Given the description of an element on the screen output the (x, y) to click on. 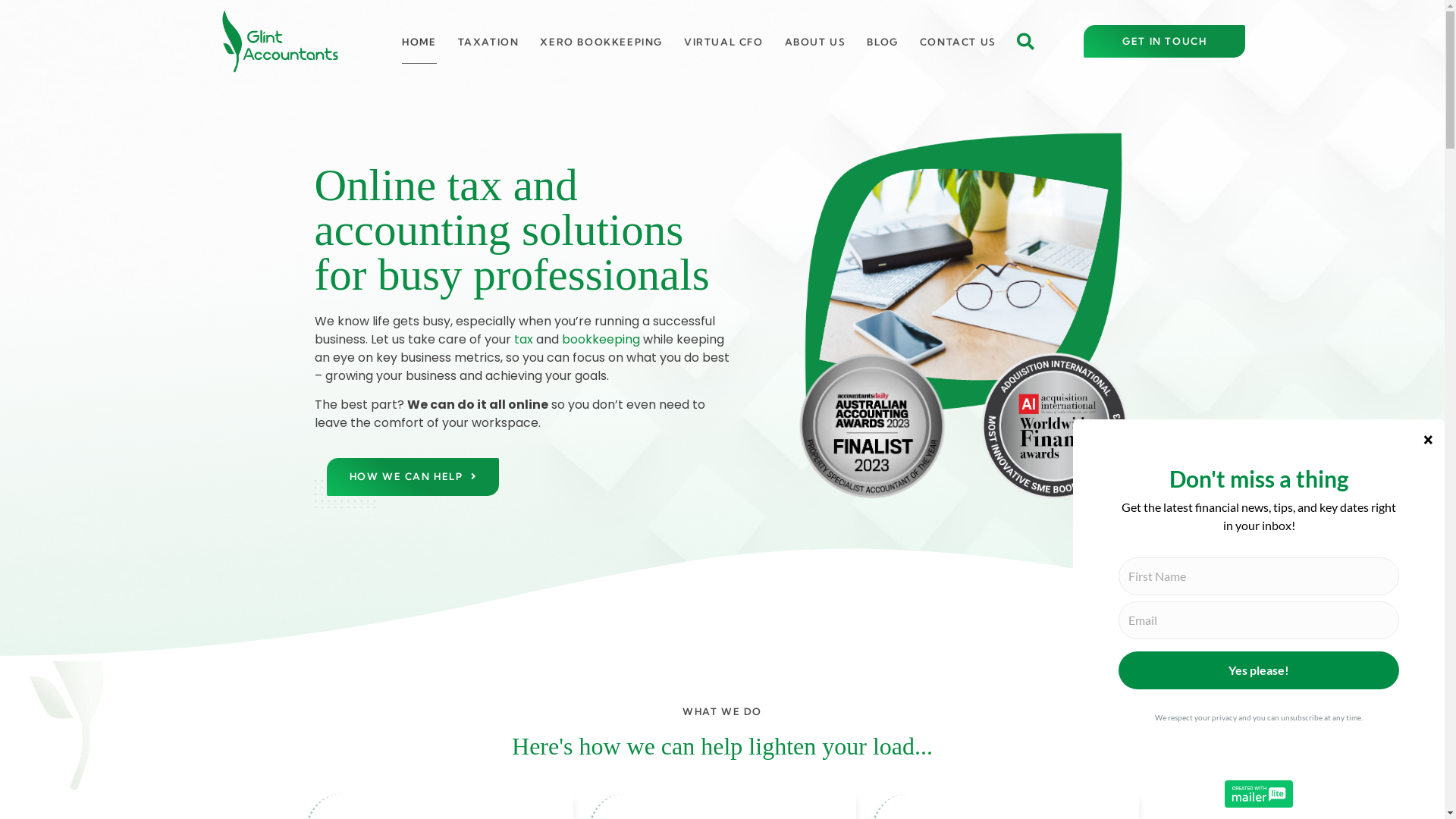
HOW WE CAN HELP Element type: text (412, 476)
HOME Element type: text (418, 41)
GET IN TOUCH Element type: text (1164, 41)
ABOUT US Element type: text (815, 41)
VIRTUAL CFO Element type: text (723, 41)
BLOG Element type: text (881, 41)
tax Element type: text (523, 339)
bookkeeping Element type: text (600, 339)
XERO BOOKKEEPING Element type: text (600, 41)
TAXATION Element type: text (488, 41)
CONTACT US Element type: text (957, 41)
